Given the description of an element on the screen output the (x, y) to click on. 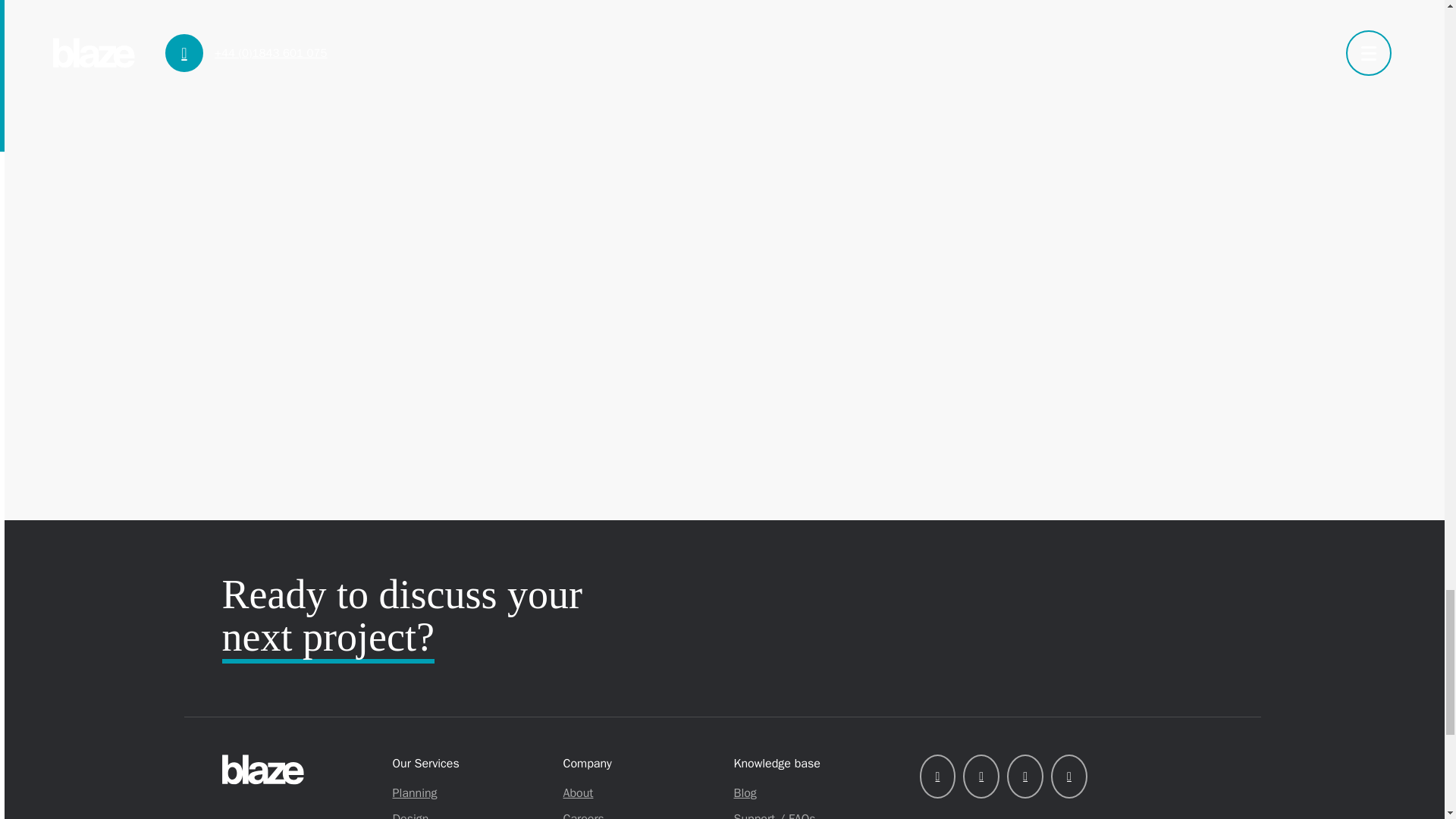
Blaze Signs (299, 769)
